Given the description of an element on the screen output the (x, y) to click on. 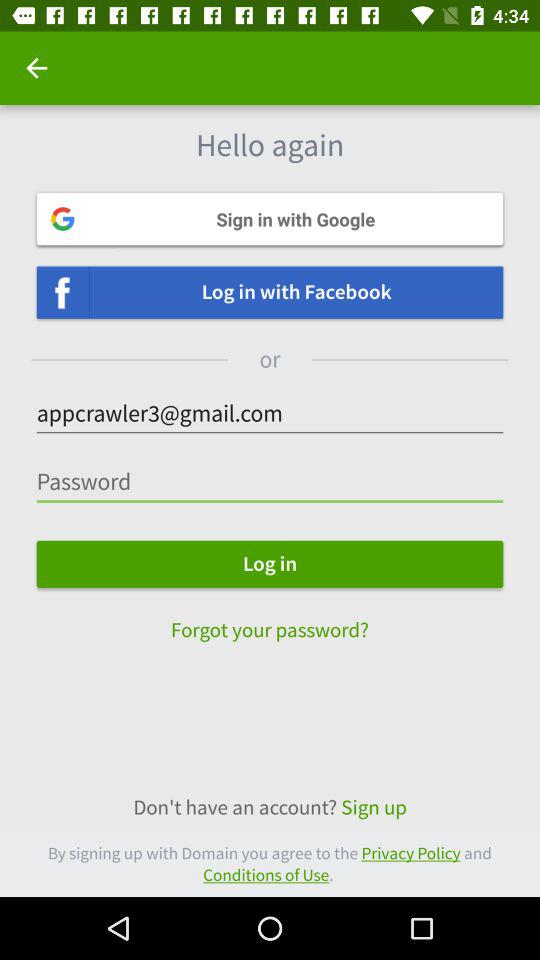
turn on appcrawler3@gmail.com (269, 414)
